Given the description of an element on the screen output the (x, y) to click on. 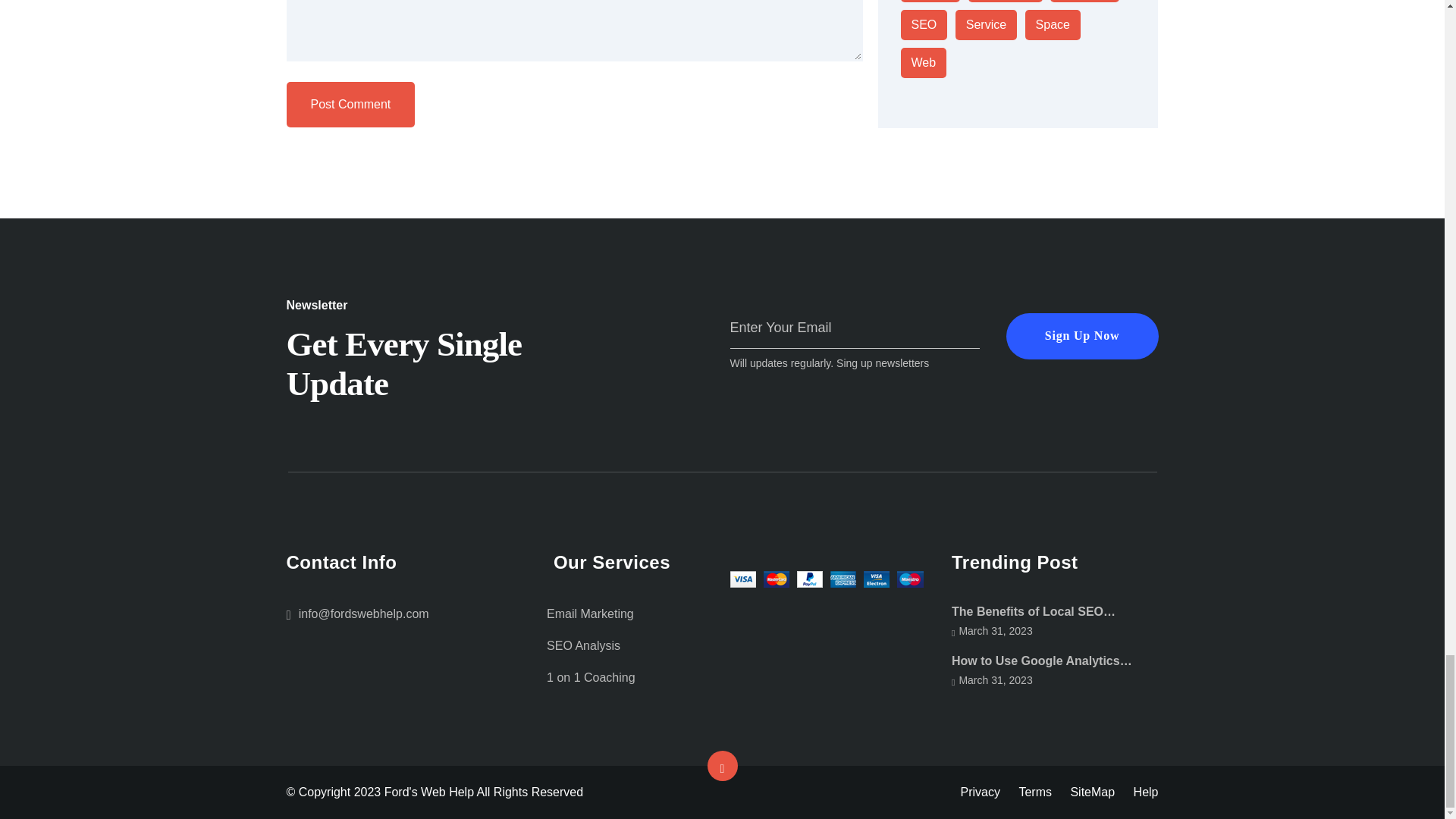
Post Comment (350, 104)
Post Comment (350, 104)
Sign Up Now (1082, 335)
